Given the description of an element on the screen output the (x, y) to click on. 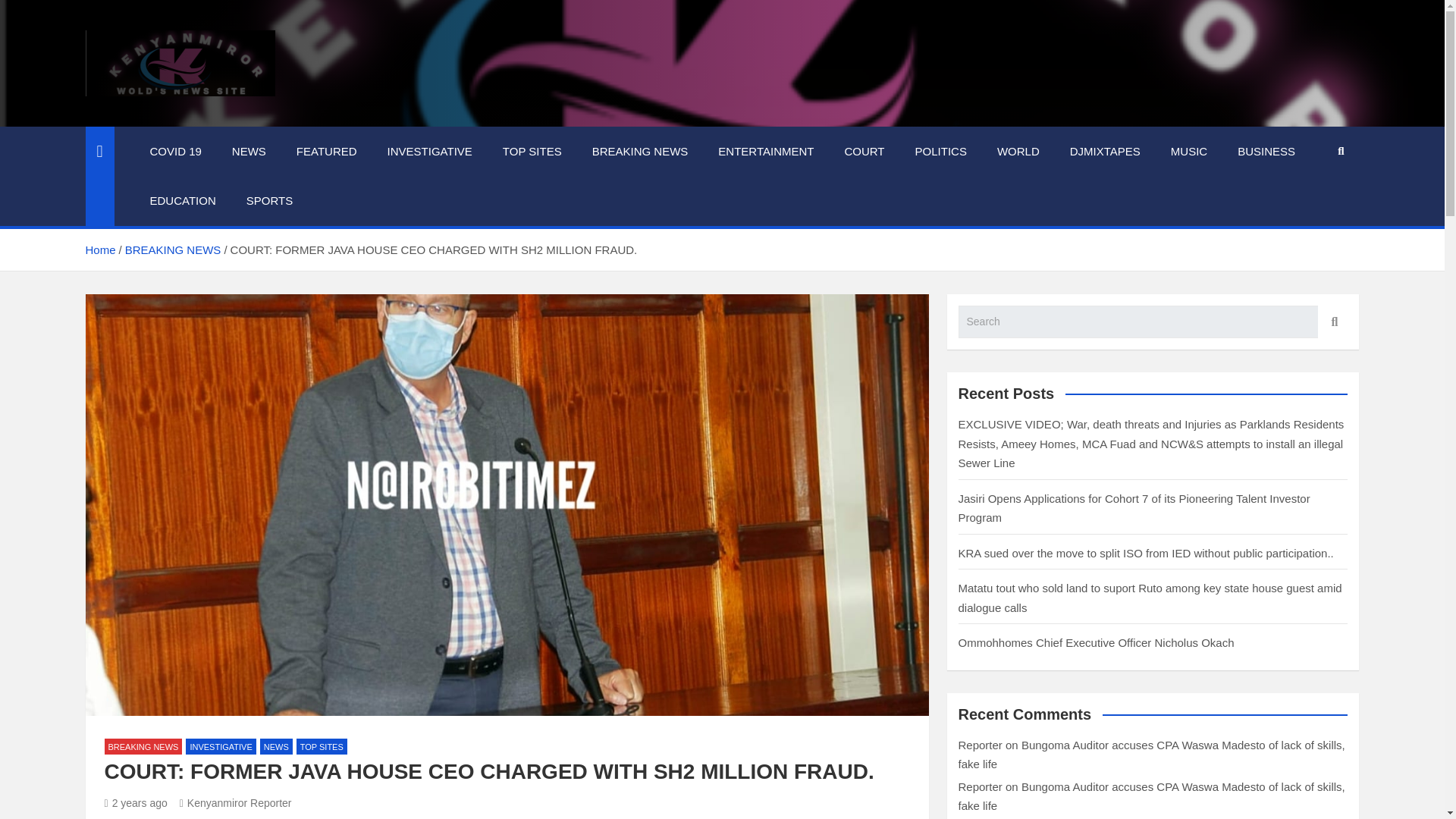
COVID 19 (175, 151)
BREAKING NEWS (173, 249)
NEWS (276, 746)
BUSINESS (1266, 151)
POLITICS (940, 151)
COURT: FORMER JAVA HOUSE CEO CHARGED WITH SH2 MILLION FRAUD. (135, 802)
TOP SITES (531, 151)
Search (1332, 321)
Kenyanmiror KM (205, 115)
Kenyanmiror Reporter (235, 802)
INVESTIGATIVE (429, 151)
BREAKING NEWS (639, 151)
EDUCATION (183, 201)
DJMIXTAPES (1105, 151)
COURT (863, 151)
